Given the description of an element on the screen output the (x, y) to click on. 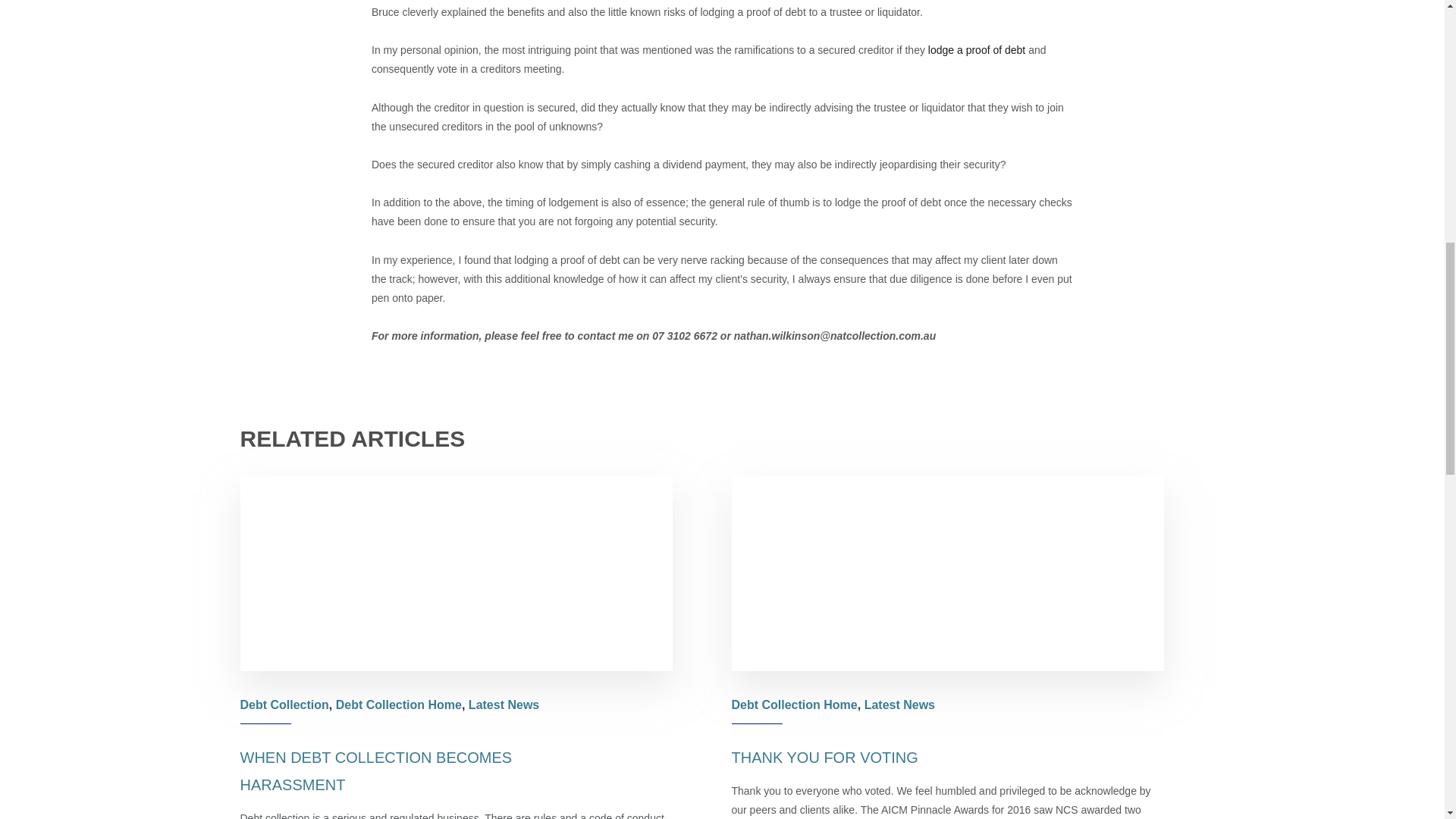
Latest News (503, 705)
THANK YOU FOR VOTING (823, 757)
Debt Collection Home (793, 705)
Debt Collection (284, 705)
Debt Collection Home (398, 705)
Latest News (899, 705)
lodge a proof of debt (976, 50)
WHEN DEBT COLLECTION BECOMES HARASSMENT (376, 771)
